Given the description of an element on the screen output the (x, y) to click on. 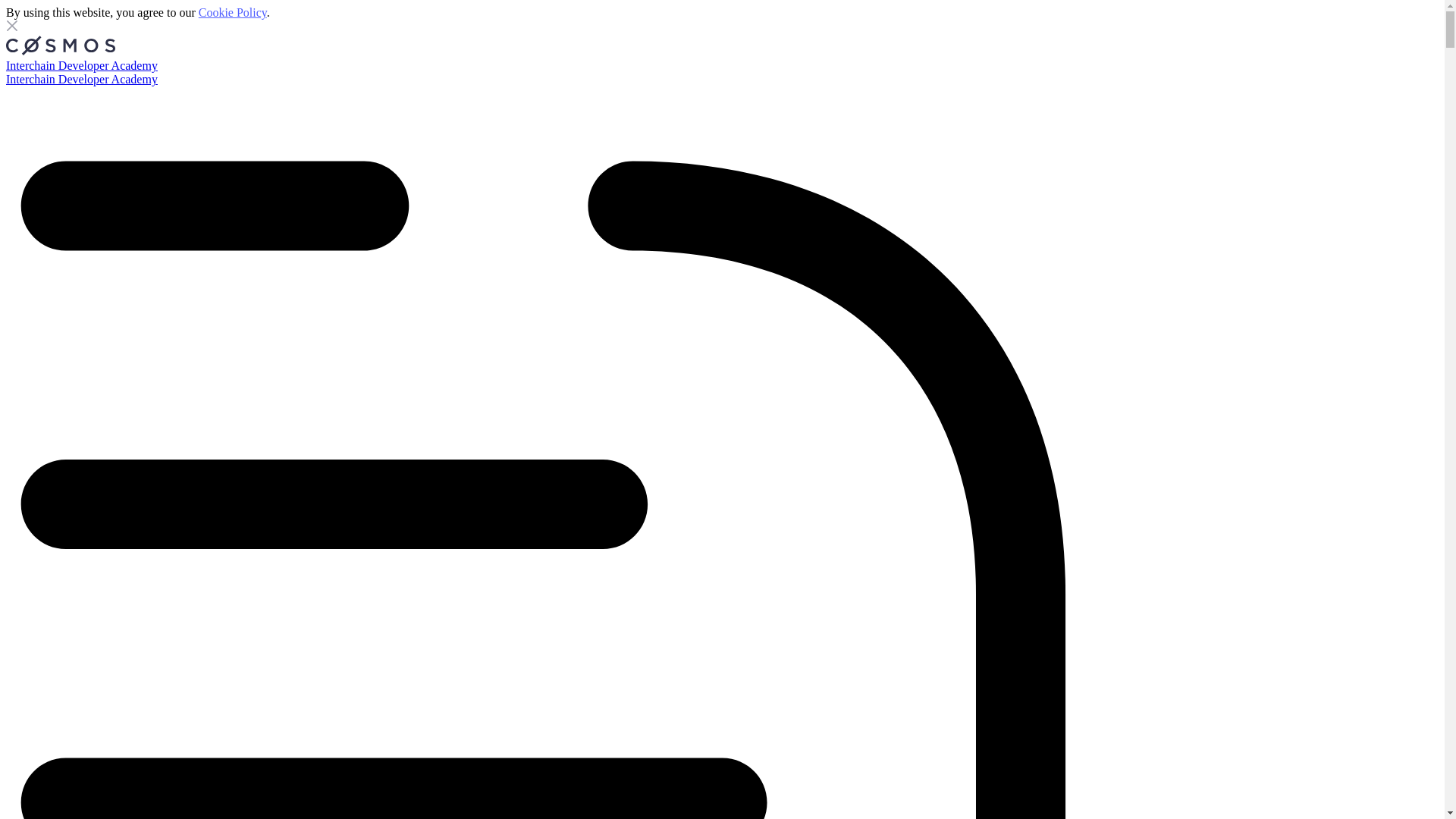
Interchain Developer Academy (81, 65)
Interchain Developer Academy (81, 78)
Cookie Policy (232, 11)
